Given the description of an element on the screen output the (x, y) to click on. 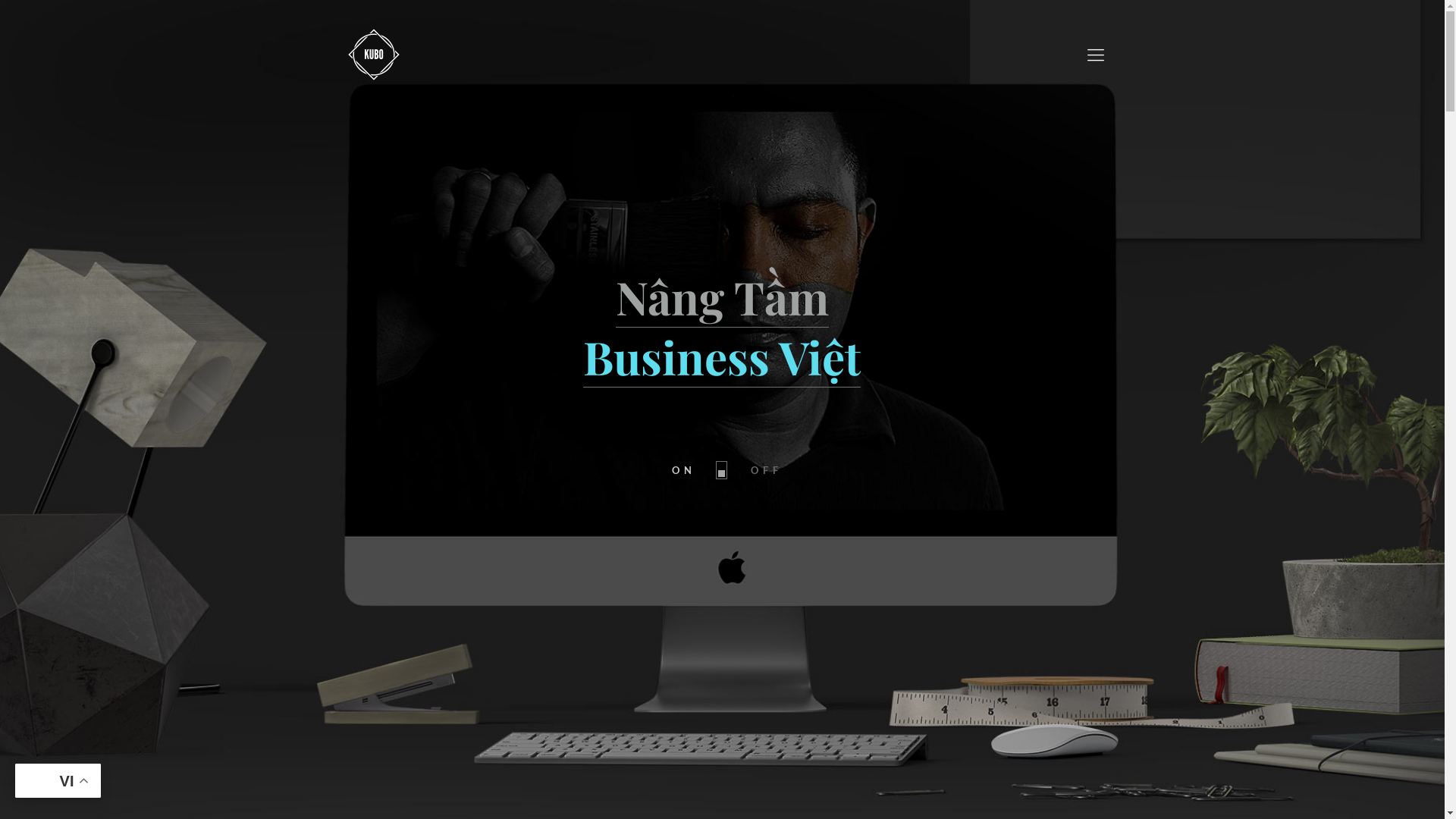
Kubo Labs | Website Design For Small Business Melbourne Element type: hover (373, 53)
